Given the description of an element on the screen output the (x, y) to click on. 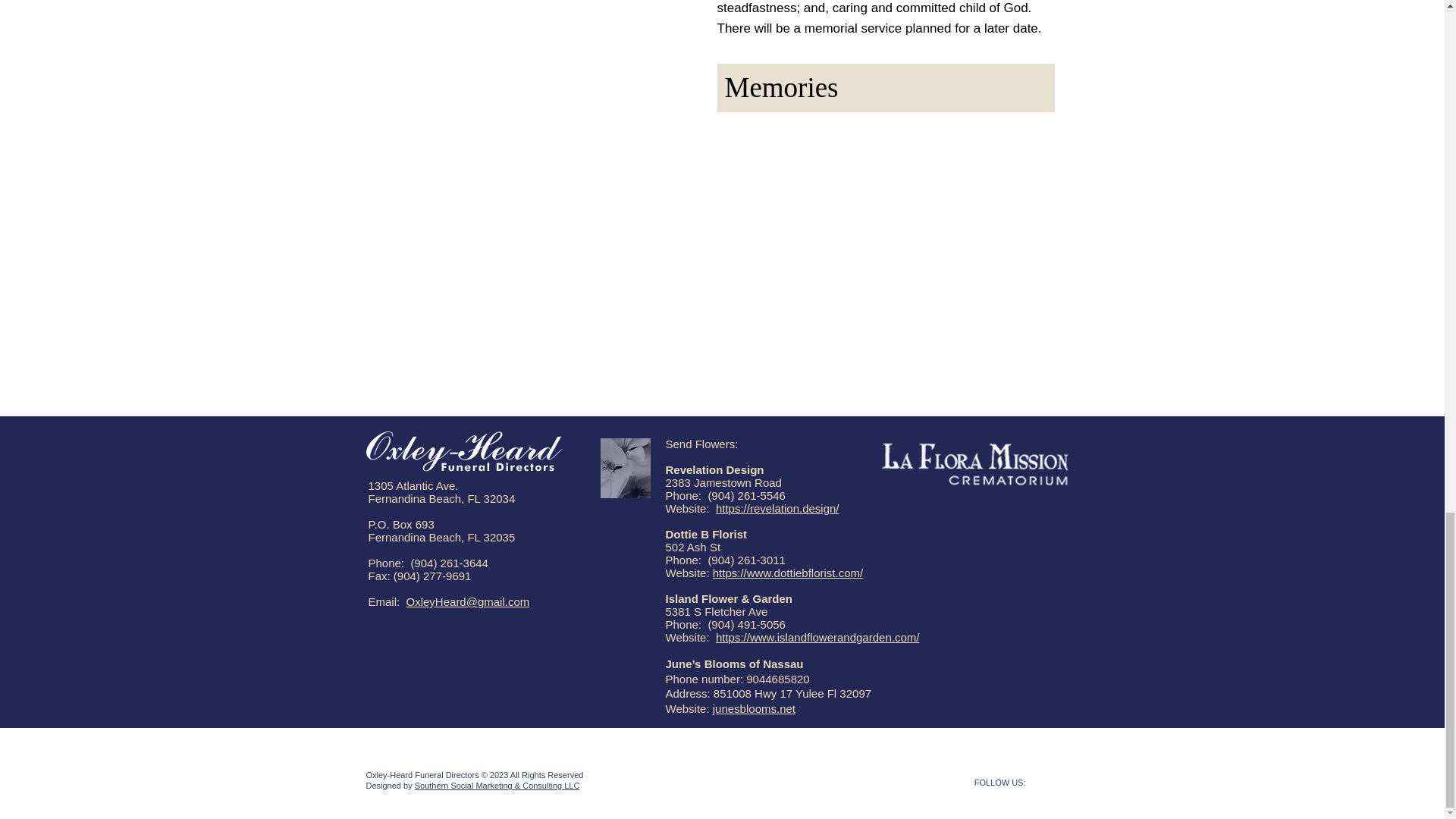
Email:  (387, 601)
junesblooms.net (753, 707)
